Given the description of an element on the screen output the (x, y) to click on. 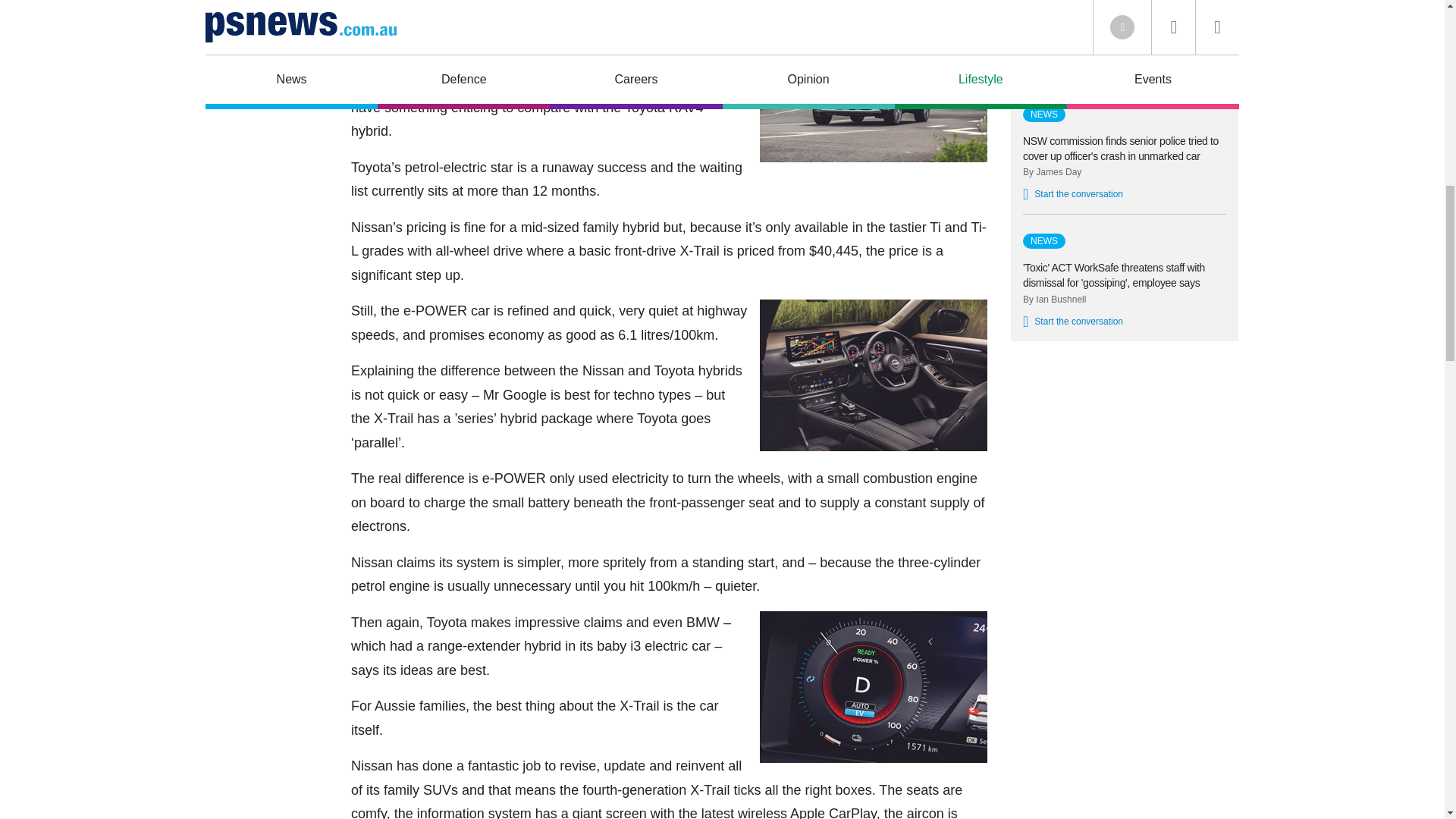
3rd party ad content (1124, 460)
